Given the description of an element on the screen output the (x, y) to click on. 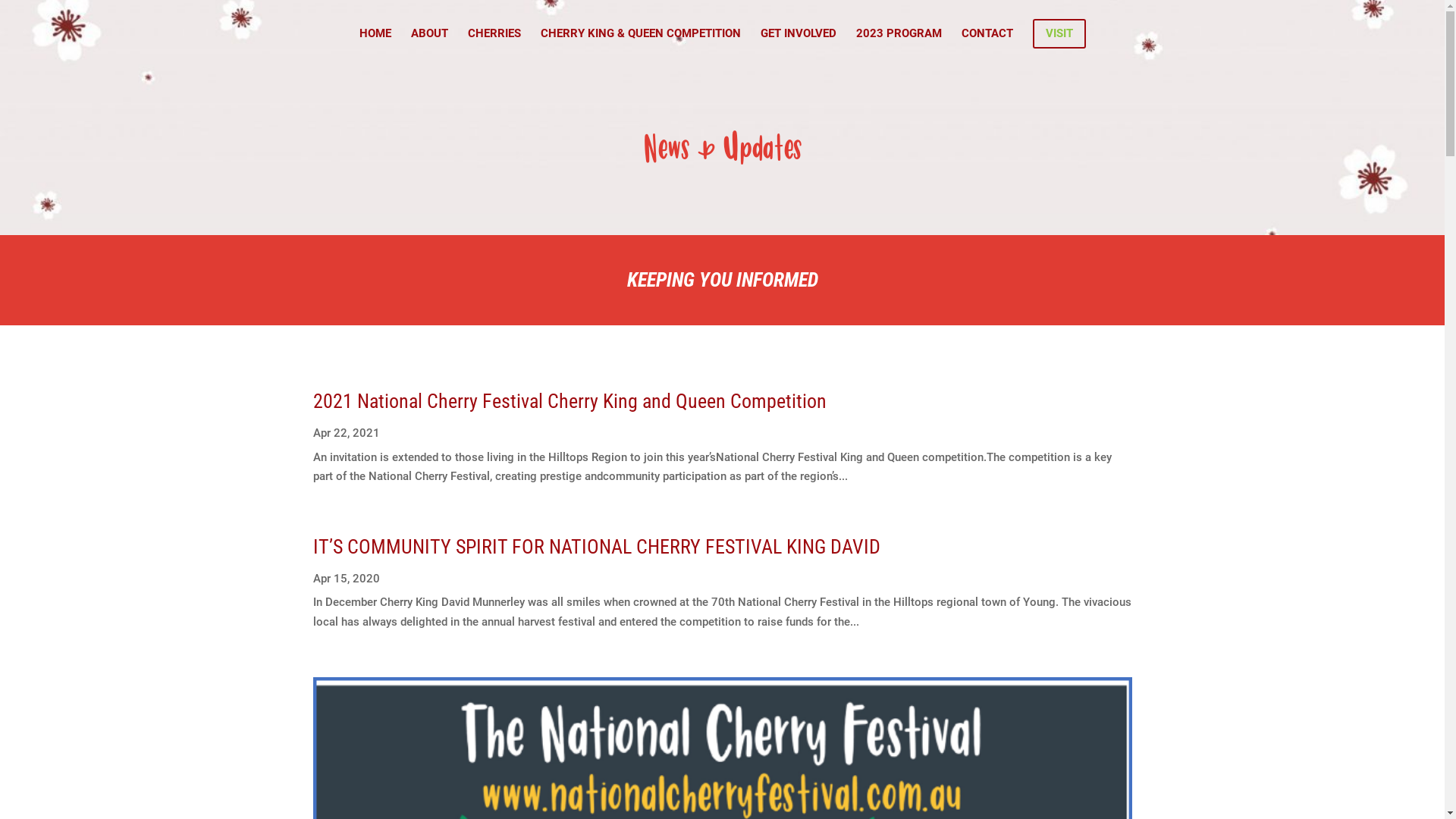
CHERRY KING & QUEEN COMPETITION Element type: text (639, 41)
ABOUT Element type: text (429, 41)
GET INVOLVED Element type: text (797, 41)
CONTACT Element type: text (987, 41)
CHERRIES Element type: text (493, 41)
2023 PROGRAM Element type: text (898, 41)
VISIT Element type: text (1058, 42)
HOME Element type: text (375, 41)
